Given the description of an element on the screen output the (x, y) to click on. 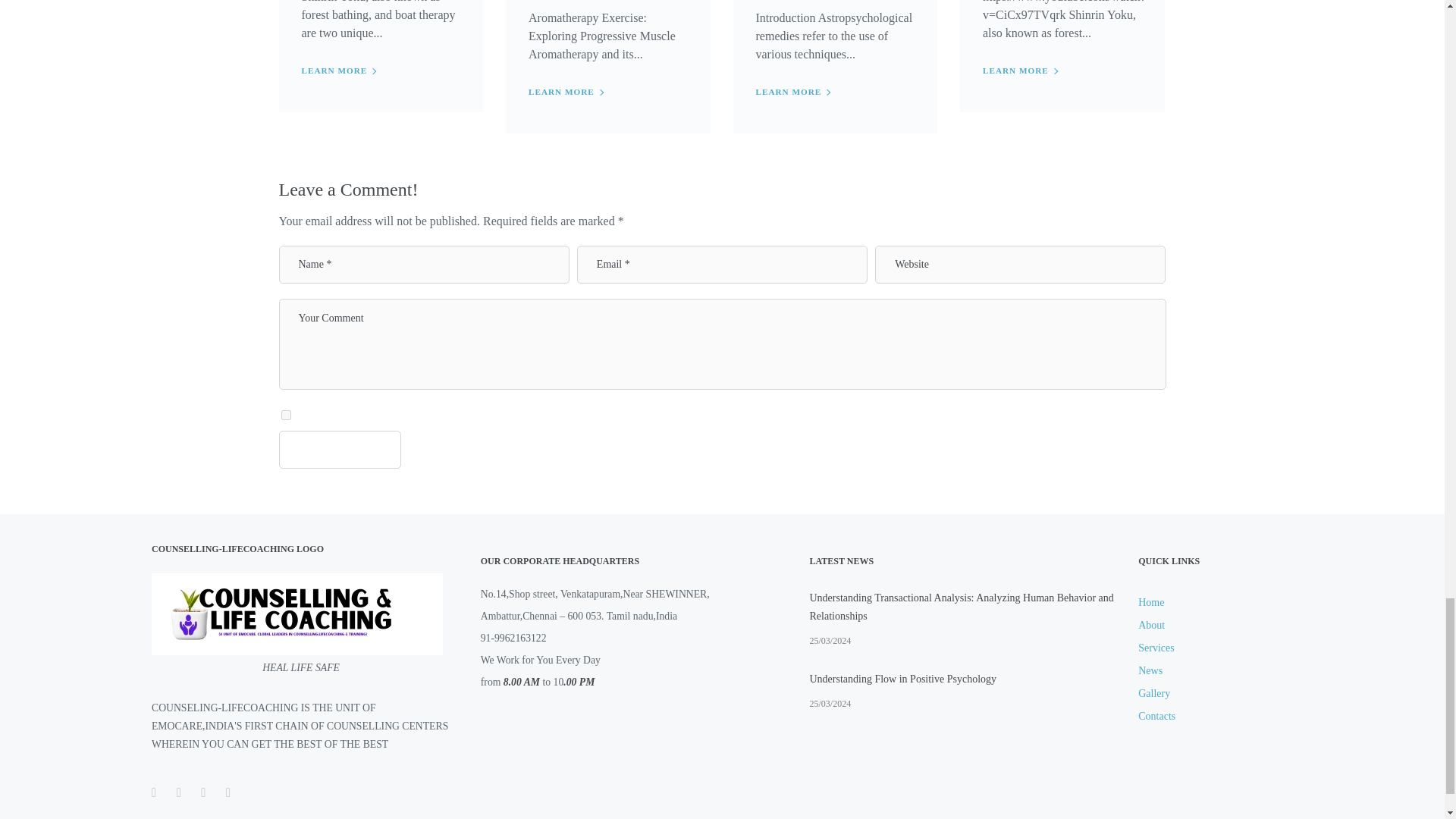
Website (1020, 264)
COUNSELLING-LIFECOACHING LOGO (296, 614)
Post comment (340, 449)
yes (285, 415)
